Given the description of an element on the screen output the (x, y) to click on. 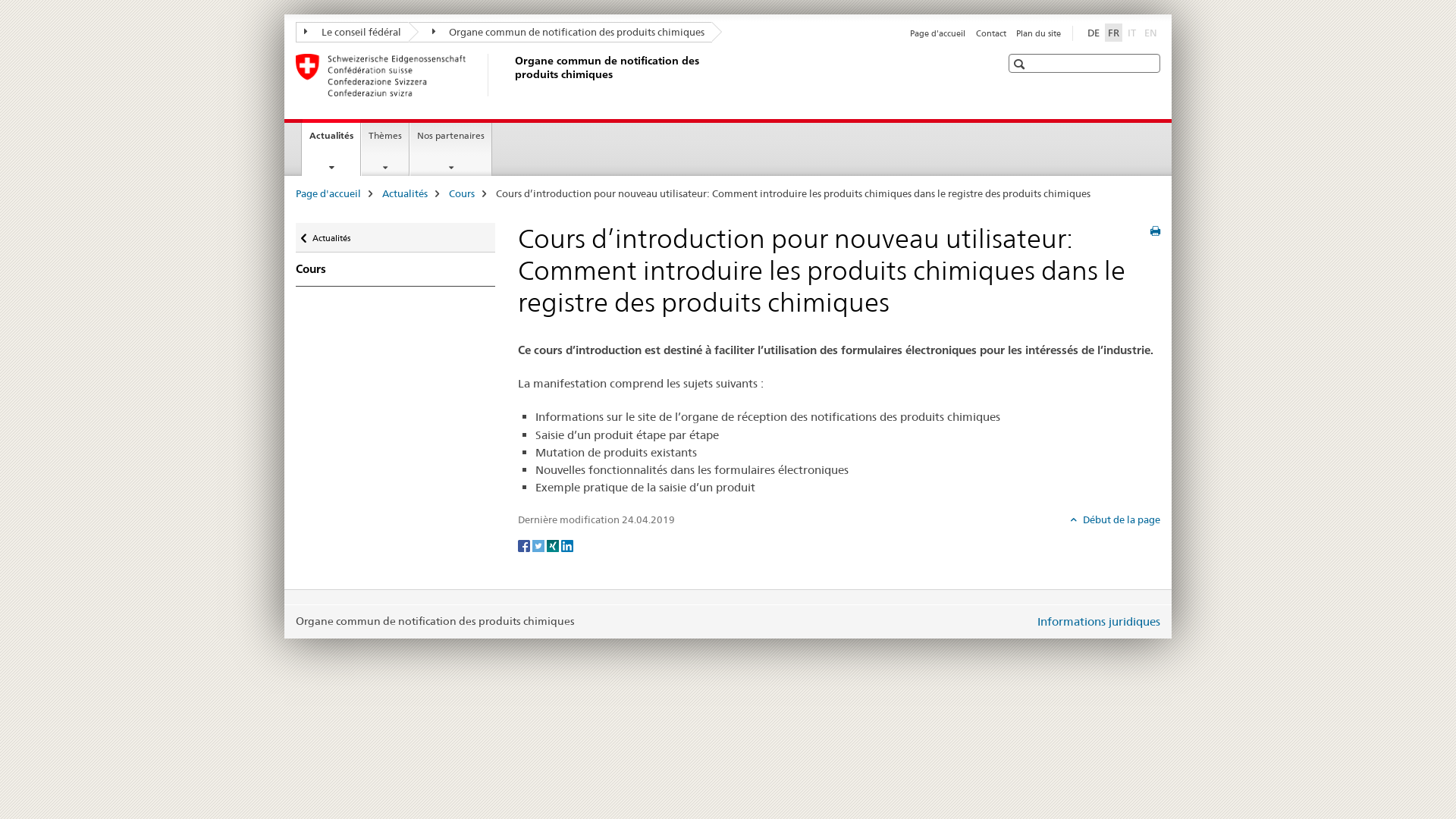
Imprimer cette page Element type: hover (1155, 230)
Cours Element type: text (461, 193)
EN
disabled Element type: text (1150, 32)
Nos partenaires Element type: text (450, 148)
Plan du site Element type: text (1038, 33)
Page d'accueil Element type: text (937, 33)
Page d'accueil Element type: text (327, 193)
Informations juridiques Element type: text (1098, 621)
DE Element type: text (1093, 32)
Contact Element type: text (990, 33)
FR Element type: text (1113, 32)
Organe commun de notification des produits chimiques Element type: text (559, 31)
IT
disabled Element type: text (1131, 32)
Cours Element type: text (395, 268)
Organe commun de notification des produits chimiques Element type: text (511, 74)
